Given the description of an element on the screen output the (x, y) to click on. 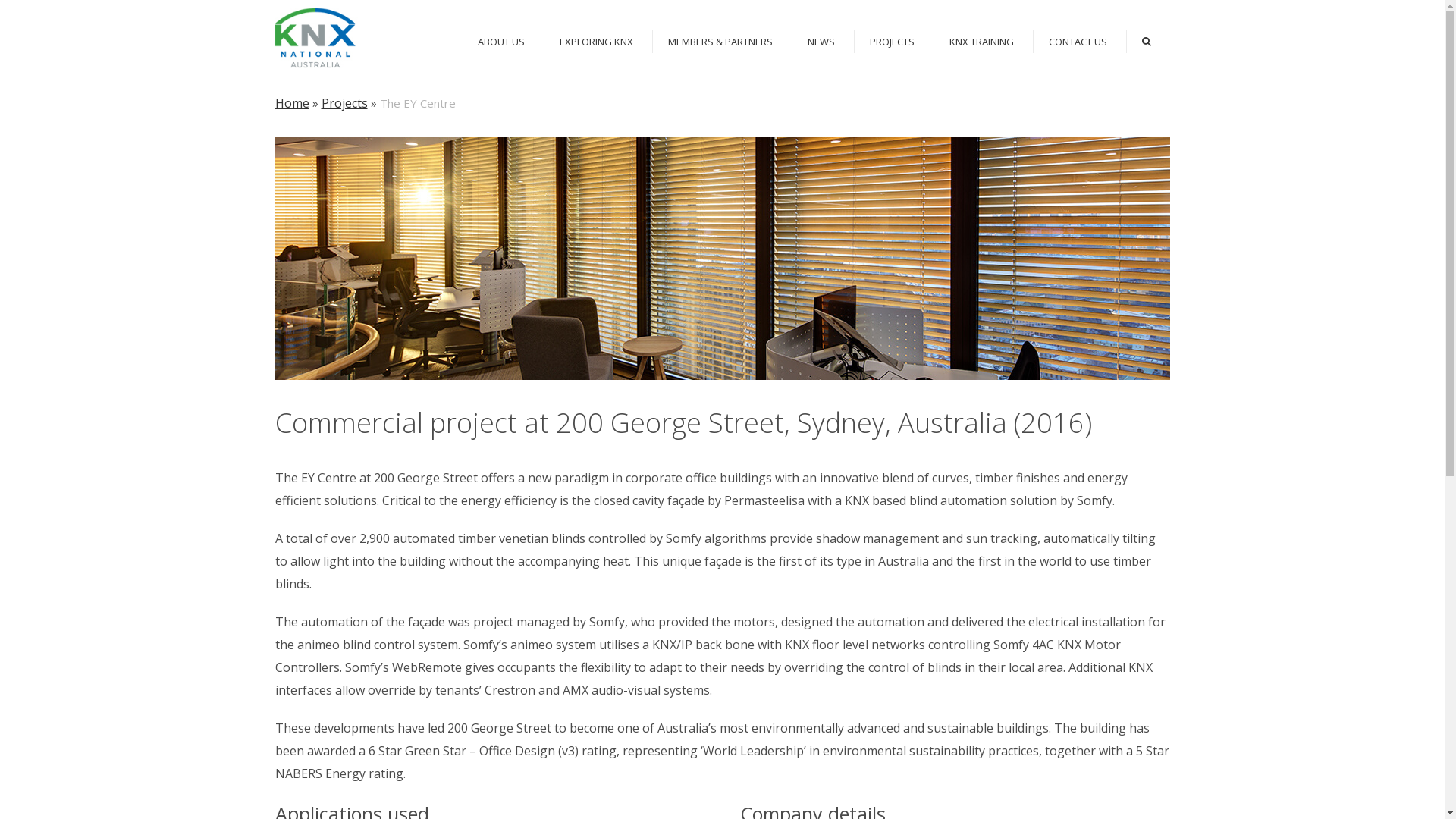
Search Element type: hover (1146, 41)
EXPLORING KNX Element type: text (596, 41)
Projects Element type: text (344, 102)
PROJECTS Element type: text (891, 41)
CONTACT US Element type: text (1077, 41)
ABOUT US Element type: text (500, 41)
MEMBERS & PARTNERS Element type: text (719, 41)
NEWS Element type: text (820, 41)
Home Element type: text (291, 102)
KNX TRAINING Element type: text (981, 41)
